Given the description of an element on the screen output the (x, y) to click on. 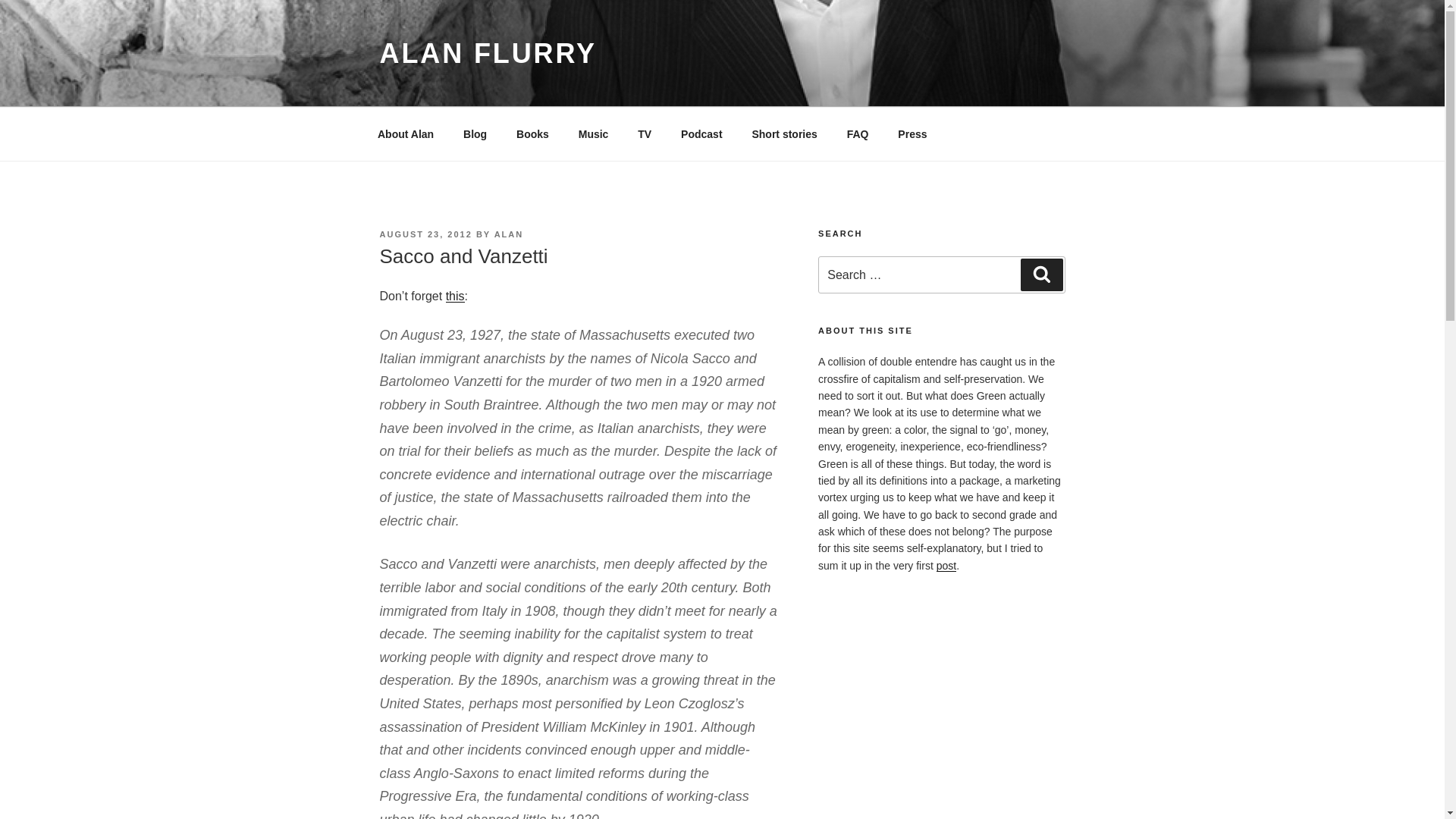
About Alan (405, 133)
Books (532, 133)
Blog (474, 133)
TV (644, 133)
Music (592, 133)
ALAN (509, 234)
AUGUST 23, 2012 (424, 234)
Short stories (783, 133)
Press (912, 133)
this (454, 295)
